Given the description of an element on the screen output the (x, y) to click on. 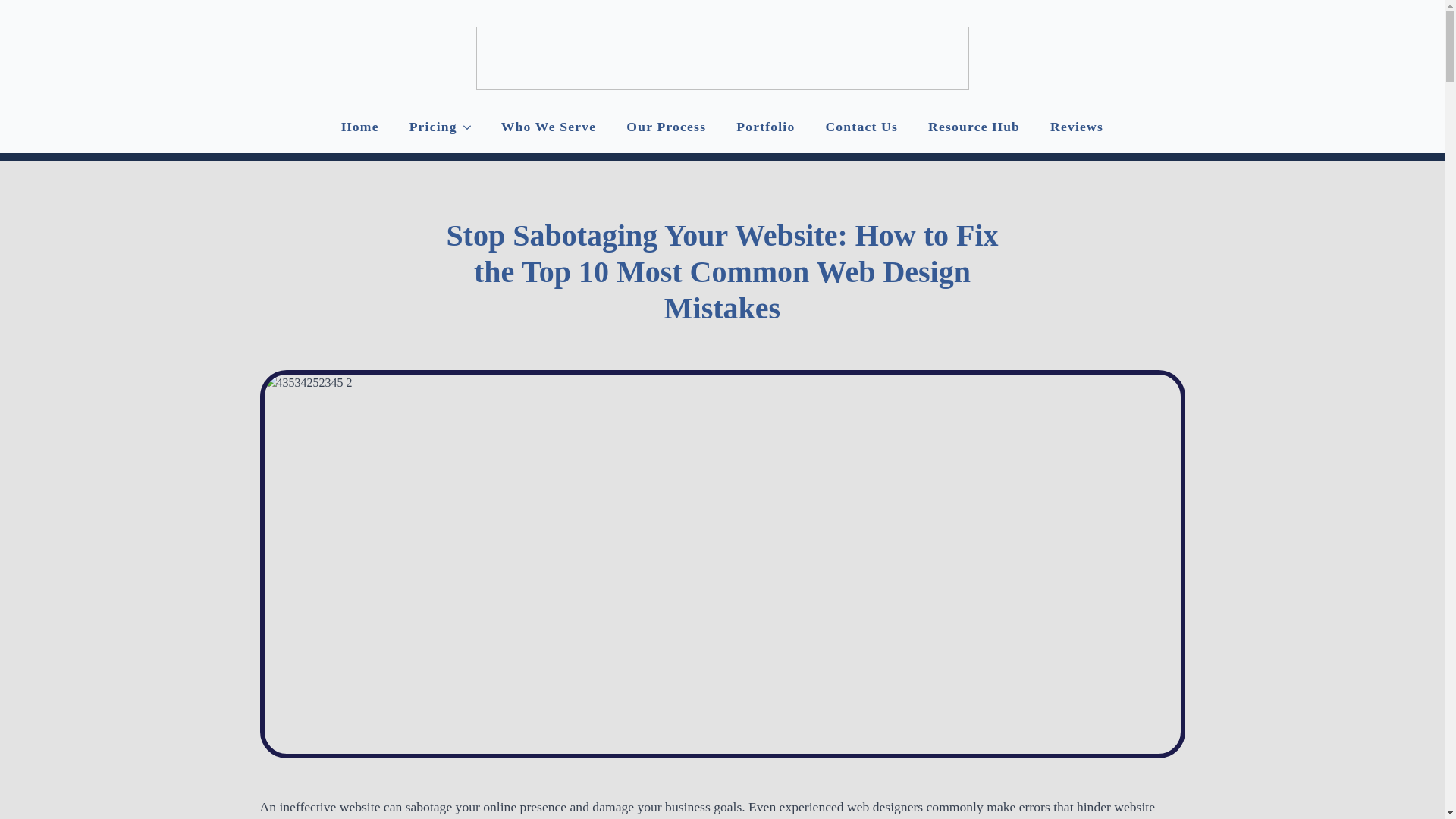
Who We Serve (548, 127)
Our Process (665, 127)
Resource Hub (973, 127)
Portfolio (764, 127)
Contact Us (860, 127)
Home (360, 127)
Reviews (1076, 127)
Pricing (425, 127)
